Given the description of an element on the screen output the (x, y) to click on. 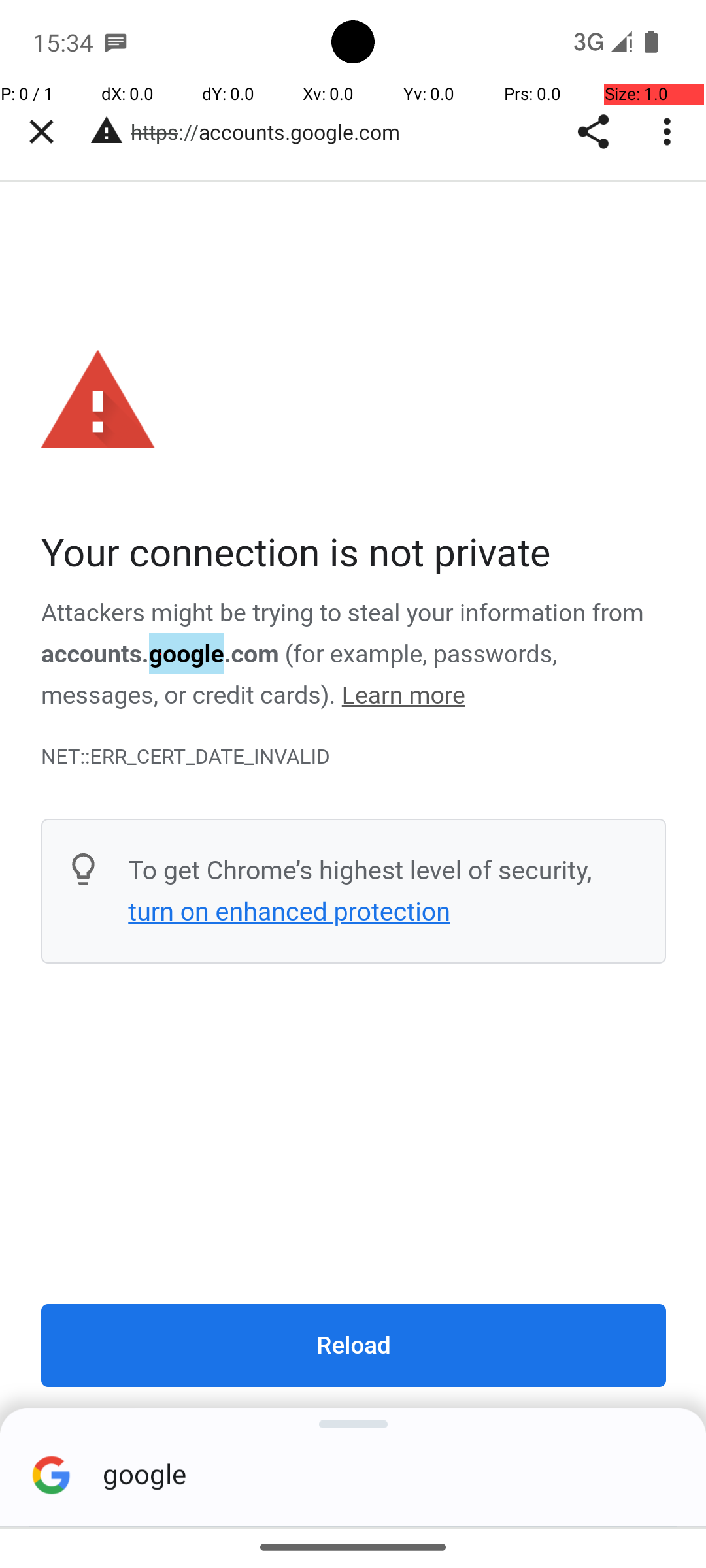
https://accounts.google.com Element type: android.widget.TextView (271, 131)
accounts.google.com Element type: android.widget.TextView (160, 653)
